Given the description of an element on the screen output the (x, y) to click on. 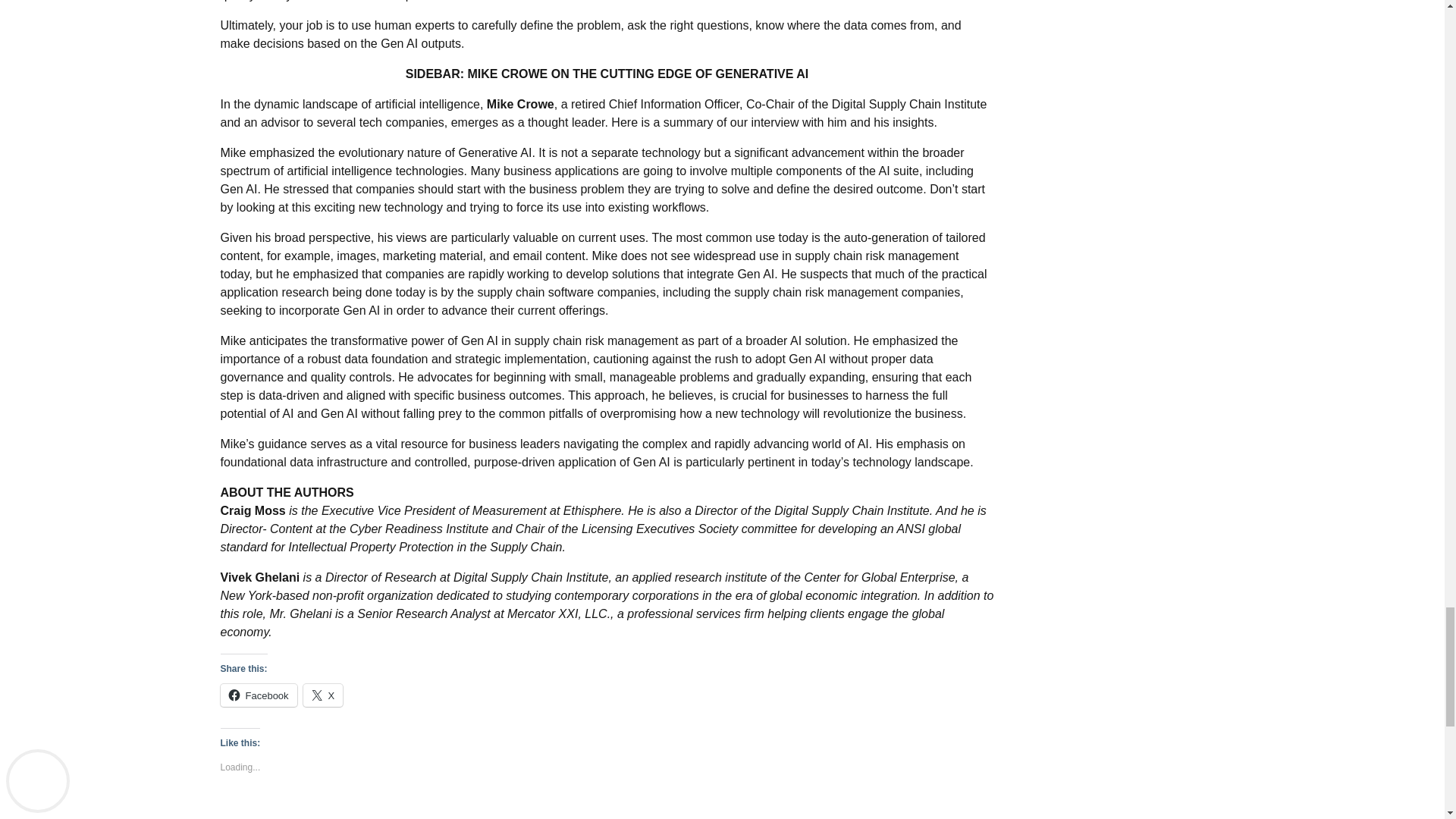
Facebook (258, 694)
Click to share on Facebook (258, 694)
Click to share on X (322, 694)
